Given the description of an element on the screen output the (x, y) to click on. 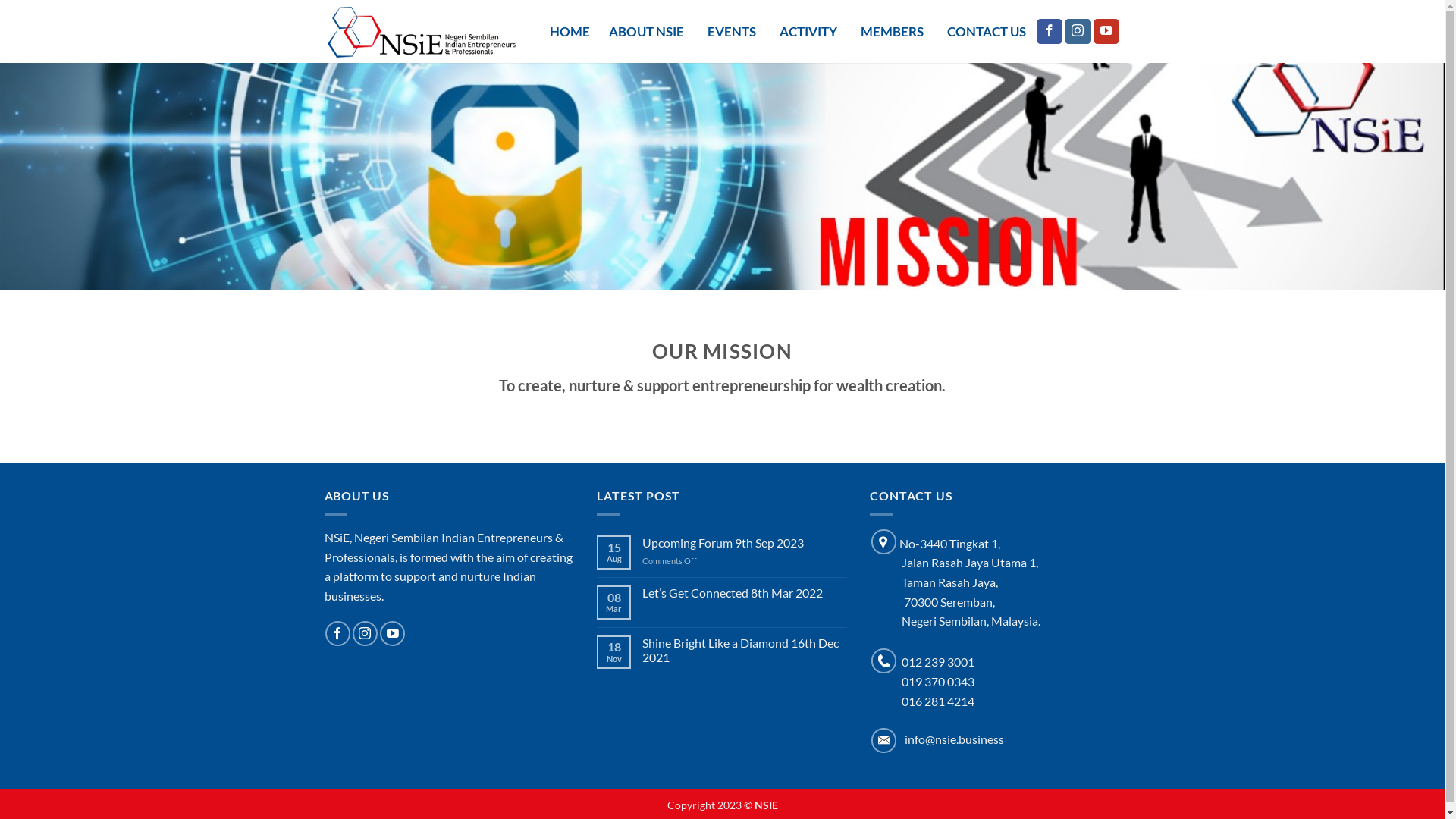
ACTIVITY Element type: text (810, 31)
Upcoming Forum 9th Sep 2023 Element type: text (744, 542)
Shine Bright Like a Diamond 16th Dec 2021 Element type: text (744, 649)
CONTACT US Element type: text (986, 31)
MEMBERS Element type: text (894, 31)
NSIE - NEGERI SEMBILAN INDIAN ENTREPRENEURS & PROFESSIONALS Element type: hover (420, 30)
Skip to content Element type: text (0, 0)
EVENTS Element type: text (733, 31)
ABOUT NSIE Element type: text (648, 31)
  info@nsie.business Element type: text (936, 738)
HOME Element type: text (569, 31)
